Given the description of an element on the screen output the (x, y) to click on. 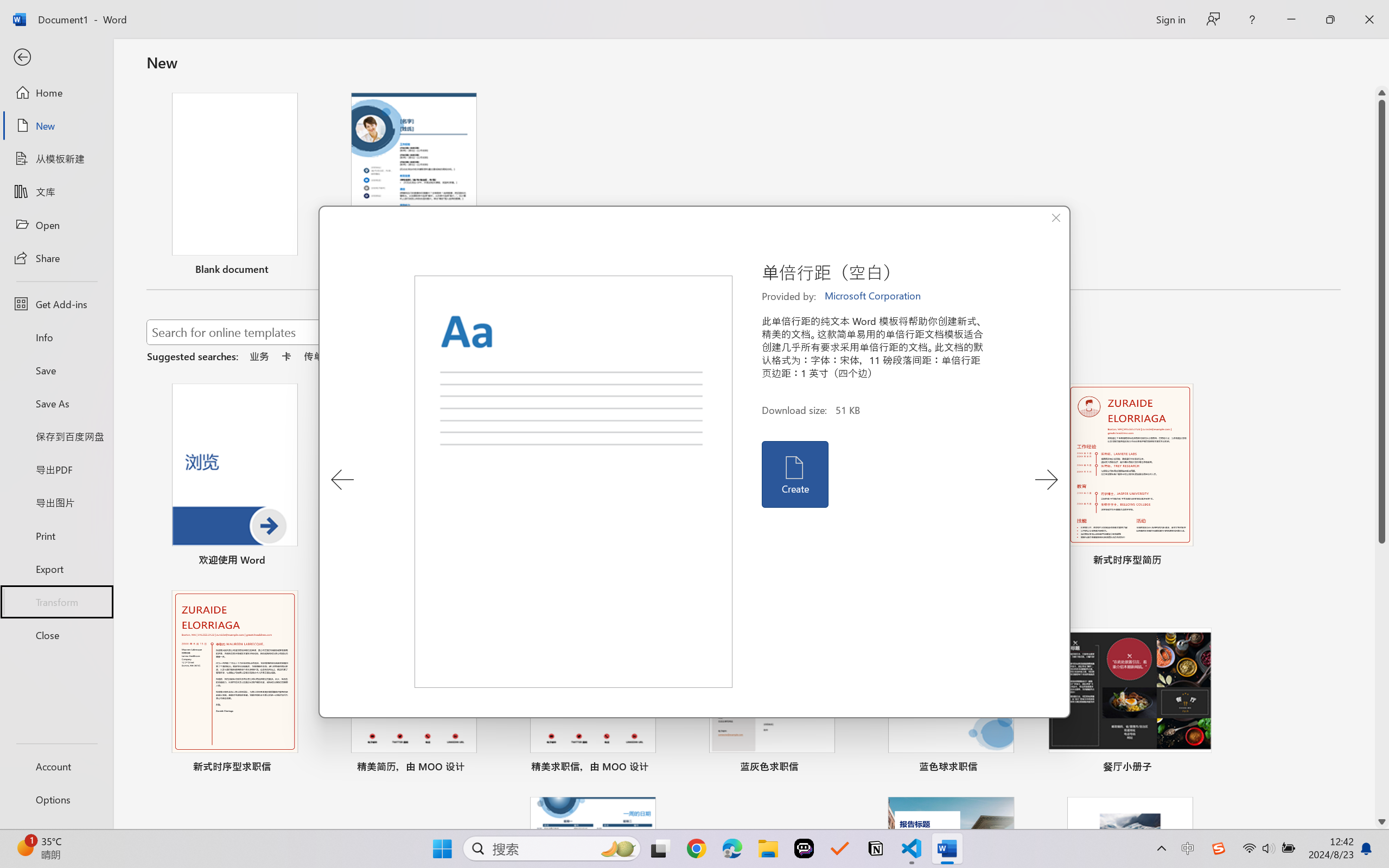
Line down (1382, 821)
Blank document (234, 185)
Info (56, 337)
Print (56, 535)
